Given the description of an element on the screen output the (x, y) to click on. 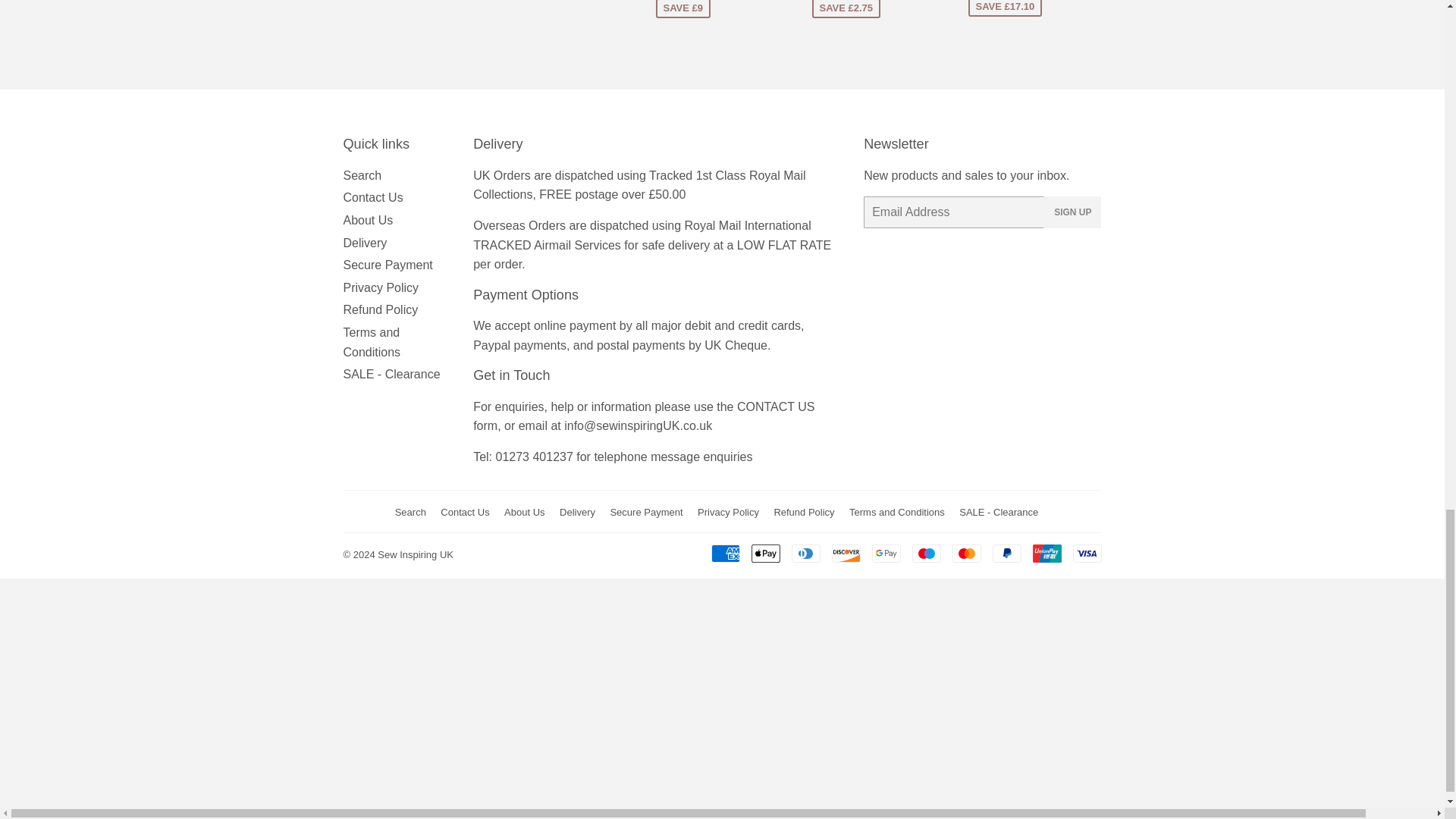
Union Pay (1046, 553)
Discover (845, 553)
Maestro (925, 553)
American Express (725, 553)
Visa (1085, 553)
Google Pay (886, 553)
Apple Pay (764, 553)
Mastercard (966, 553)
PayPal (1005, 553)
Diners Club (806, 553)
